Given the description of an element on the screen output the (x, y) to click on. 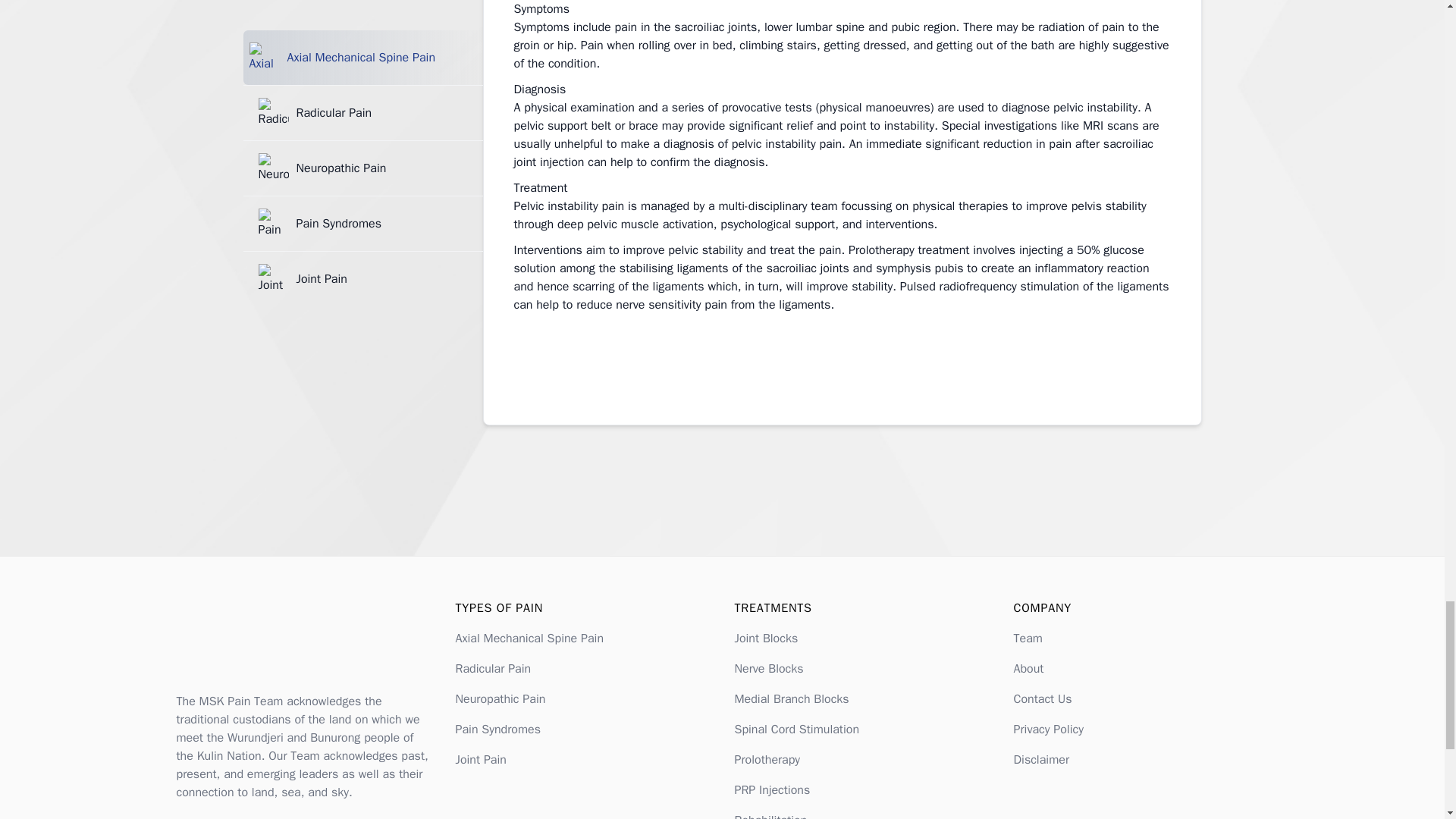
Neuropathic Pain (499, 698)
Joint Blocks (765, 638)
Contact Us (1042, 698)
Disclaimer (1040, 759)
Axial Mechanical Spine Pain (529, 638)
Rehabilitation (769, 816)
PRP Injections (771, 789)
Spinal Cord Stimulation (796, 729)
Nerve Blocks (768, 668)
Joint Pain (479, 759)
